Given the description of an element on the screen output the (x, y) to click on. 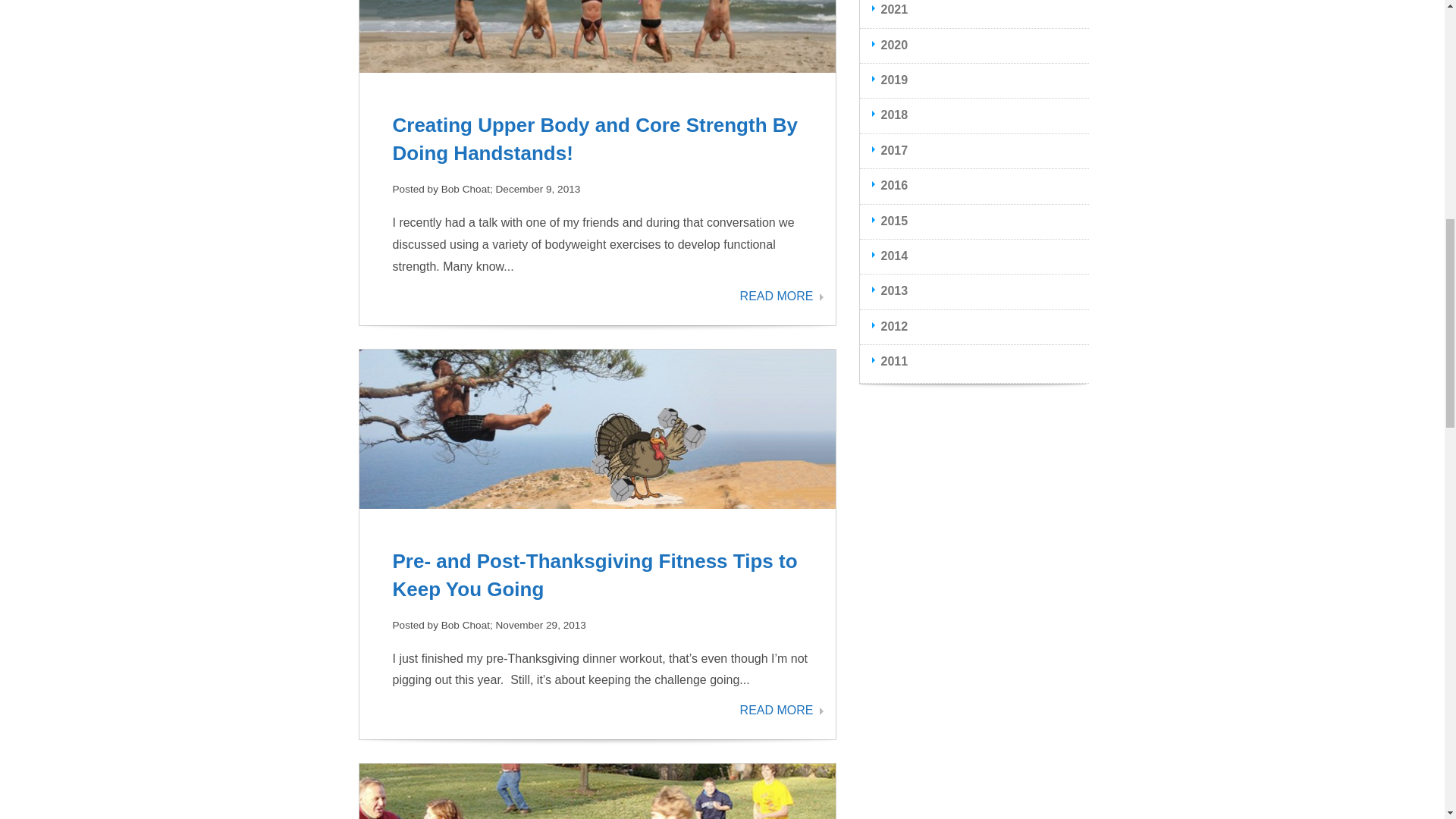
Pre- and Post-Thanksgiving Fitness Tips to Keep You Going (595, 574)
READ MORE (781, 296)
Creating Upper Body and Core Strength By Doing Handstands! (595, 138)
READ MORE (781, 710)
